Given the description of an element on the screen output the (x, y) to click on. 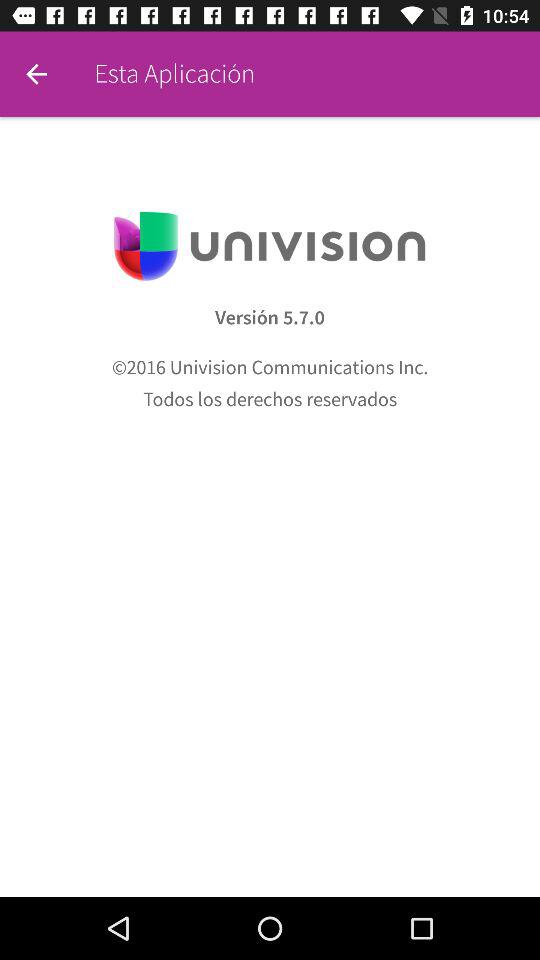
turn off the icon above 2016 univision communications (270, 317)
